Given the description of an element on the screen output the (x, y) to click on. 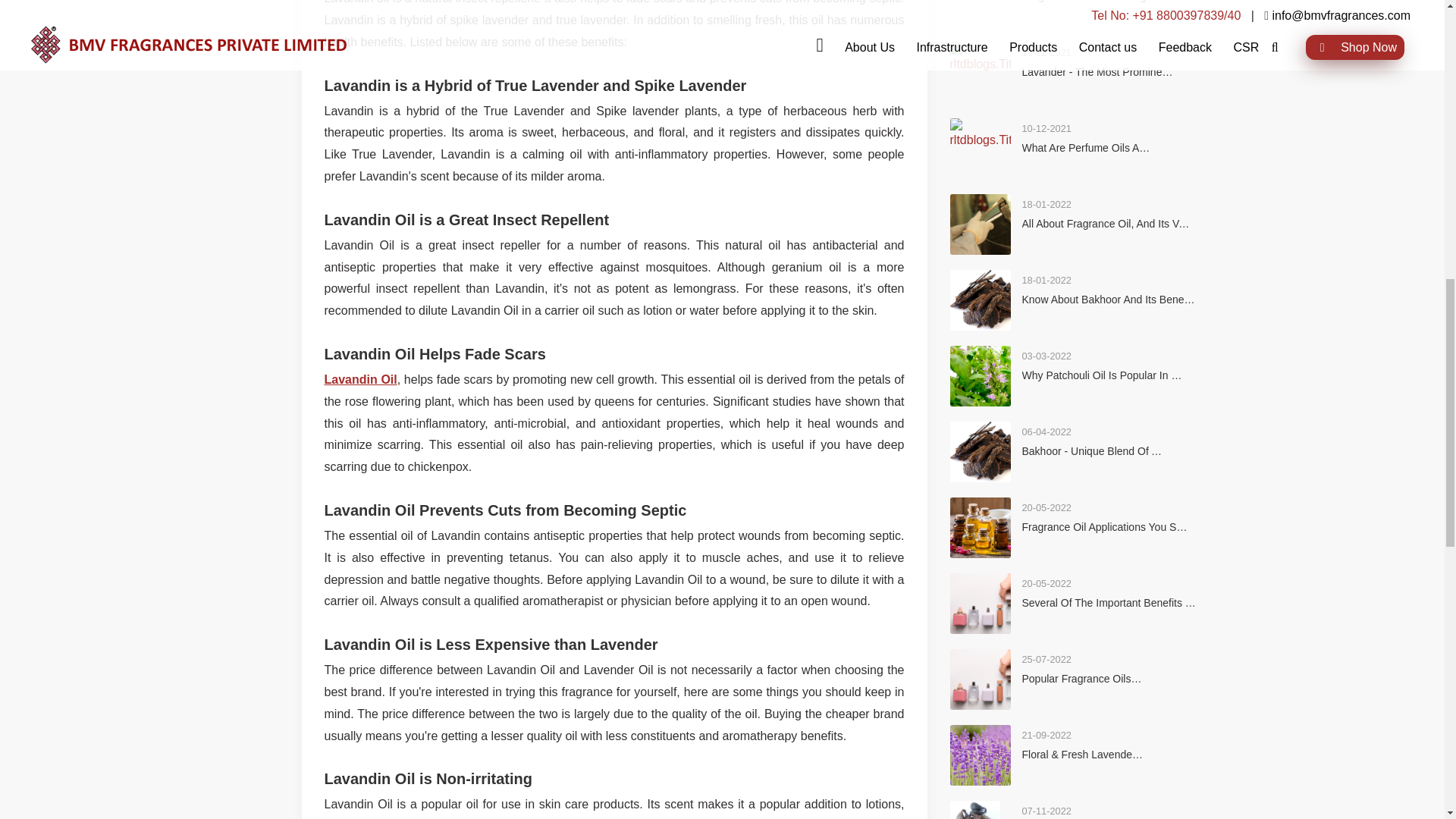
Lavandin Oil (360, 379)
Lavander - The Most Prominent Perfumery Base (1136, 71)
What Are Perfume Oils And Their Benefits? (1123, 147)
